Given the description of an element on the screen output the (x, y) to click on. 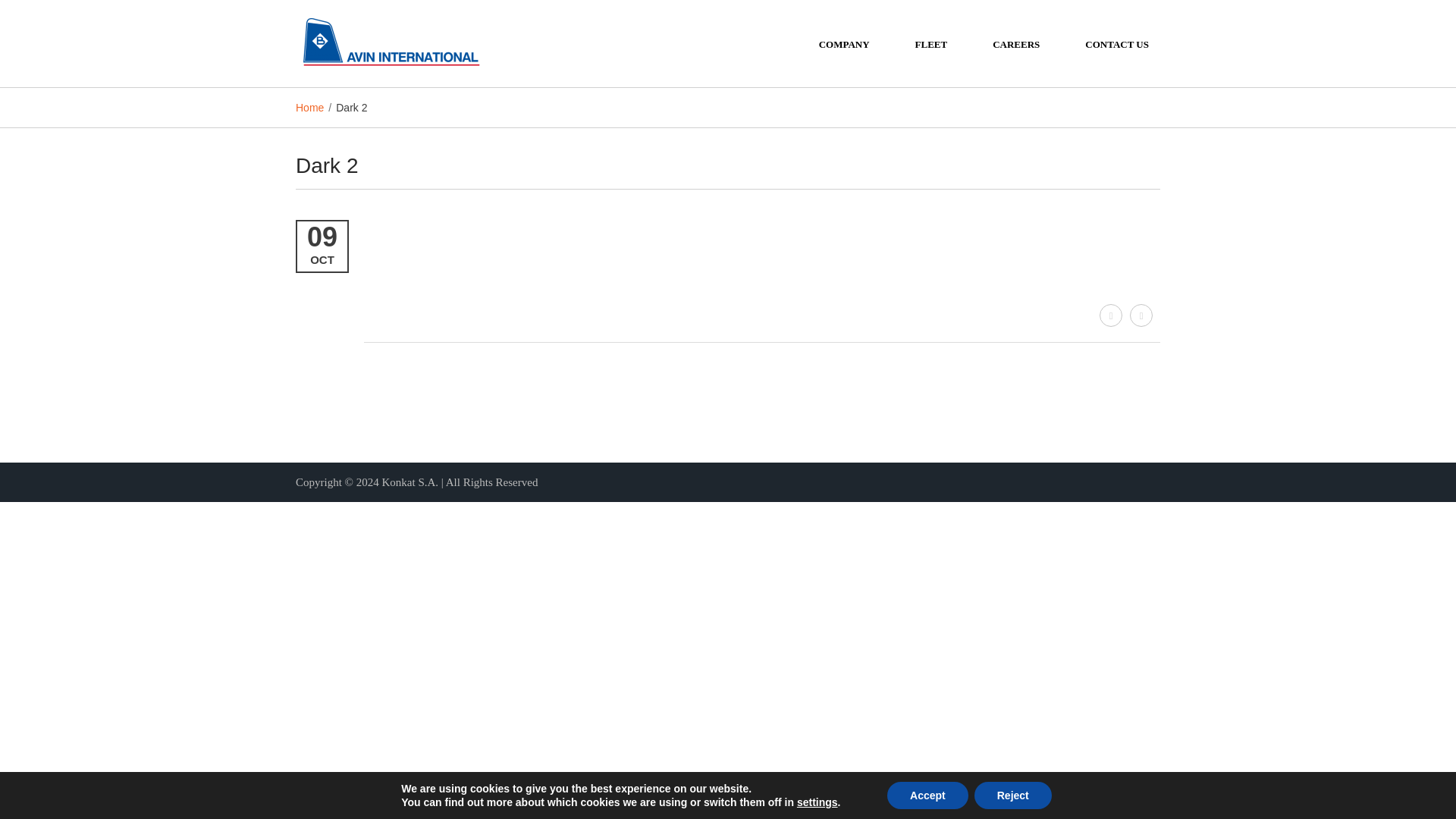
COMPANY (843, 43)
CONTACT US (1116, 43)
twitter (1141, 314)
COMPANY (843, 43)
CAREERS (1015, 43)
Avin International - Your Partner for the Future (389, 43)
Home (309, 107)
CONTACT US (1116, 43)
FLEET (931, 43)
CAREERS (1015, 43)
facebook (1110, 314)
FLEET (931, 43)
